Given the description of an element on the screen output the (x, y) to click on. 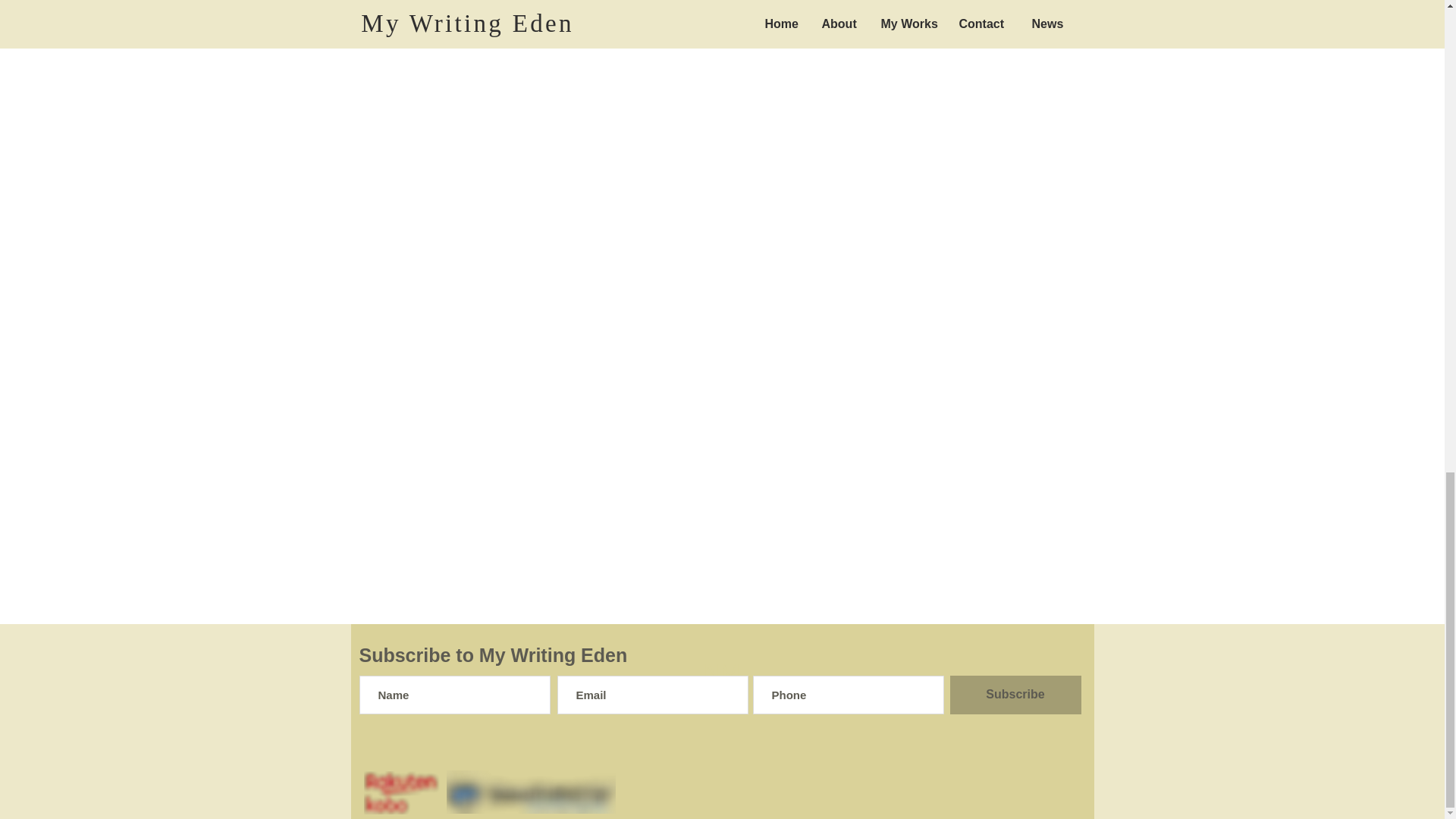
Subscribe (1014, 694)
